Given the description of an element on the screen output the (x, y) to click on. 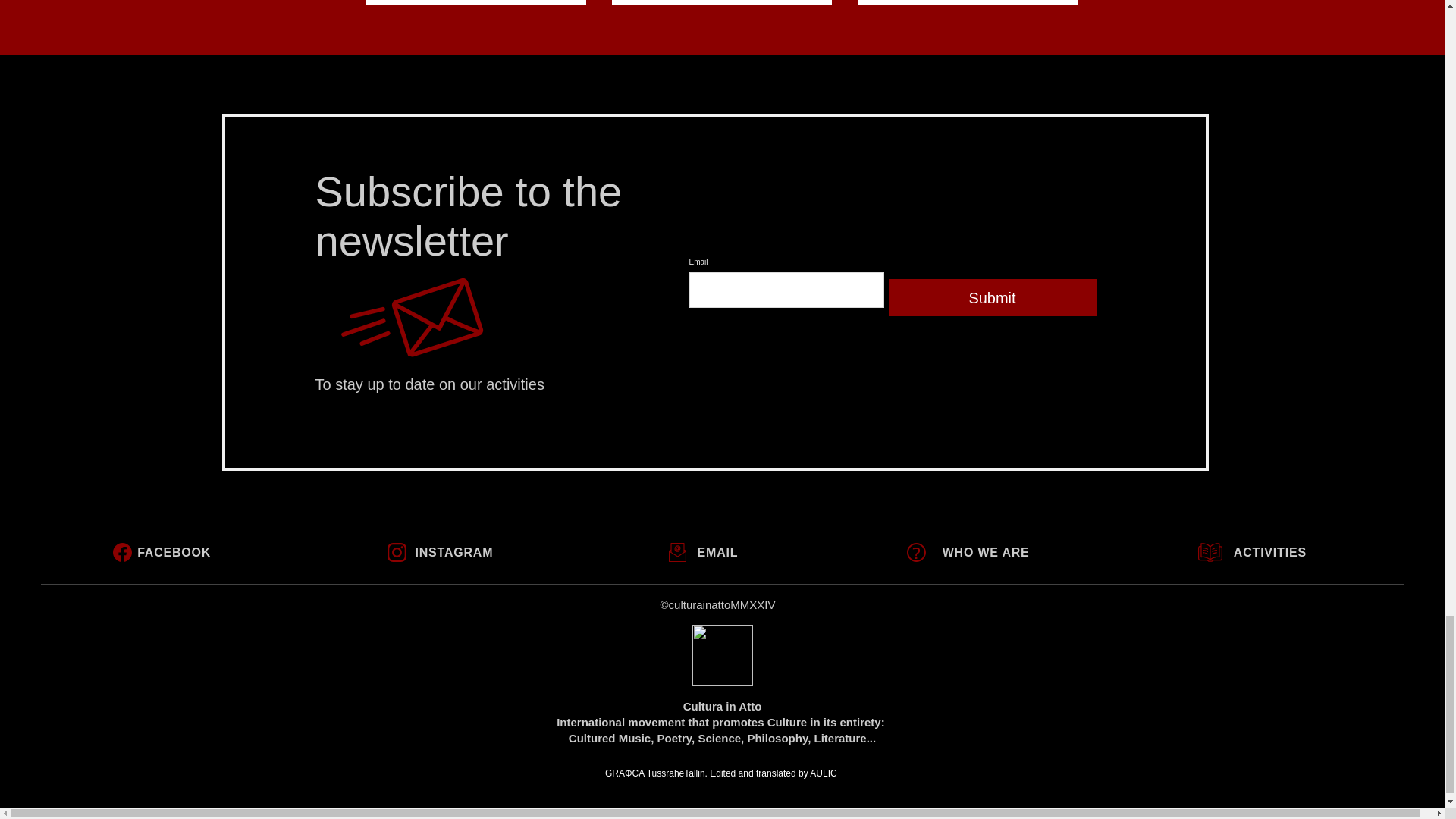
Submit (992, 297)
FACEBOOK (721, 552)
